Given the description of an element on the screen output the (x, y) to click on. 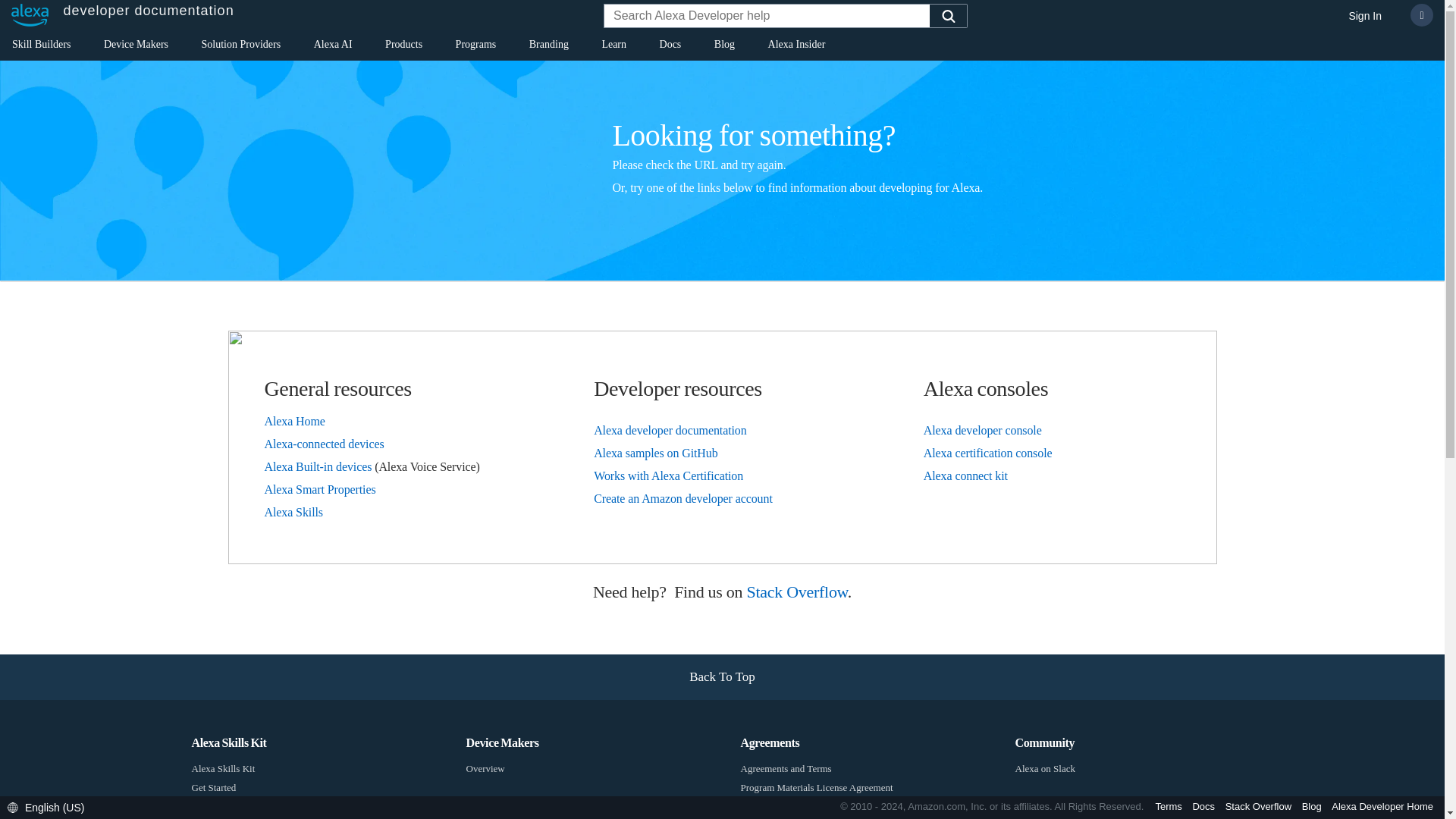
Products (403, 47)
Solution Providers (241, 47)
Sign In (1364, 17)
Device Makers (135, 47)
Skill Builders (40, 47)
Insert a query. Press enter to send (767, 17)
developer documentation (118, 15)
Alexa AI (333, 47)
